Given the description of an element on the screen output the (x, y) to click on. 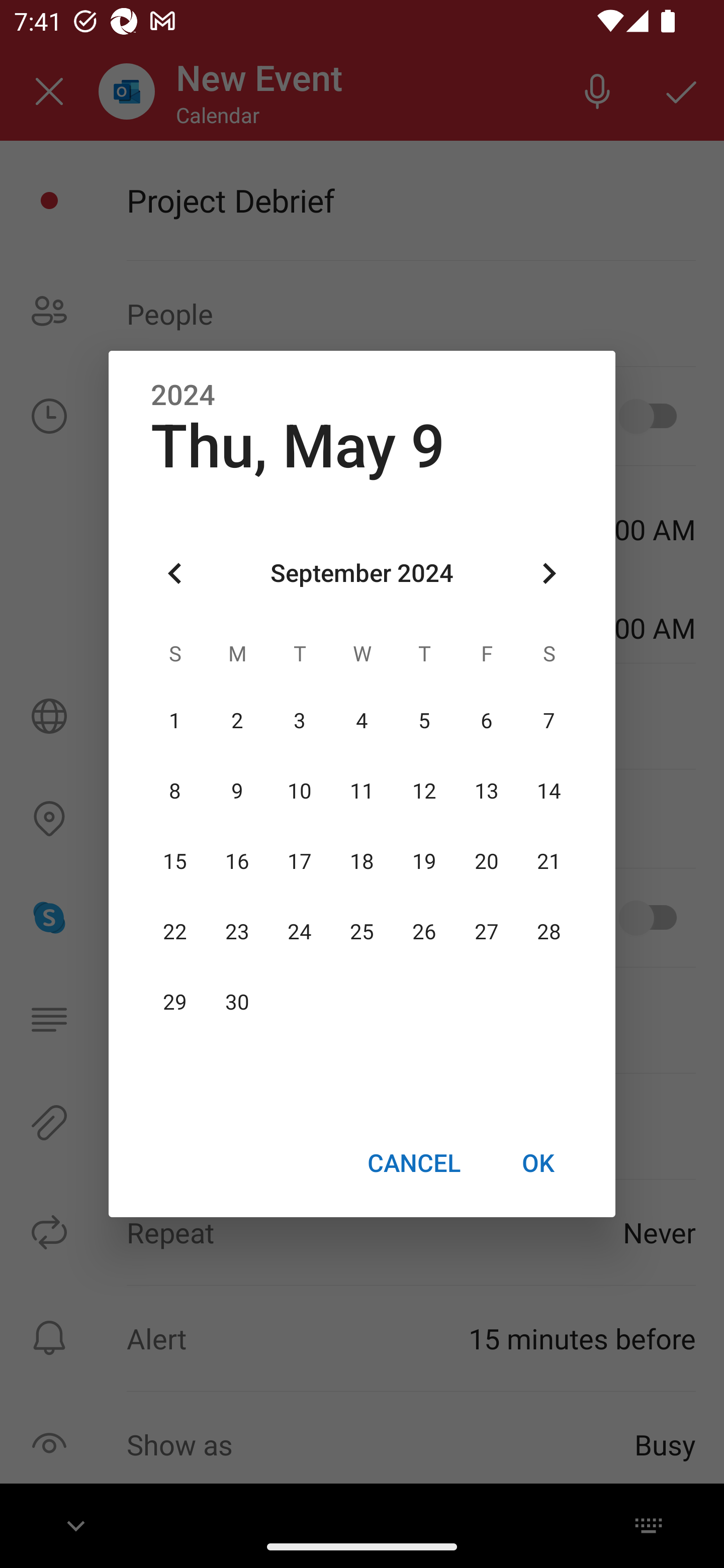
2024 (182, 395)
Thu, May 9 (297, 446)
Previous month (174, 573)
Next month (548, 573)
1 01 September 2024 (175, 720)
2 02 September 2024 (237, 720)
3 03 September 2024 (299, 720)
4 04 September 2024 (361, 720)
5 05 September 2024 (424, 720)
6 06 September 2024 (486, 720)
7 07 September 2024 (548, 720)
8 08 September 2024 (175, 790)
9 09 September 2024 (237, 790)
10 10 September 2024 (299, 790)
11 11 September 2024 (361, 790)
12 12 September 2024 (424, 790)
13 13 September 2024 (486, 790)
14 14 September 2024 (548, 790)
15 15 September 2024 (175, 861)
16 16 September 2024 (237, 861)
17 17 September 2024 (299, 861)
18 18 September 2024 (361, 861)
19 19 September 2024 (424, 861)
20 20 September 2024 (486, 861)
21 21 September 2024 (548, 861)
22 22 September 2024 (175, 931)
23 23 September 2024 (237, 931)
24 24 September 2024 (299, 931)
25 25 September 2024 (361, 931)
26 26 September 2024 (424, 931)
27 27 September 2024 (486, 931)
28 28 September 2024 (548, 931)
29 29 September 2024 (175, 1002)
30 30 September 2024 (237, 1002)
CANCEL (413, 1162)
OK (537, 1162)
